Given the description of an element on the screen output the (x, y) to click on. 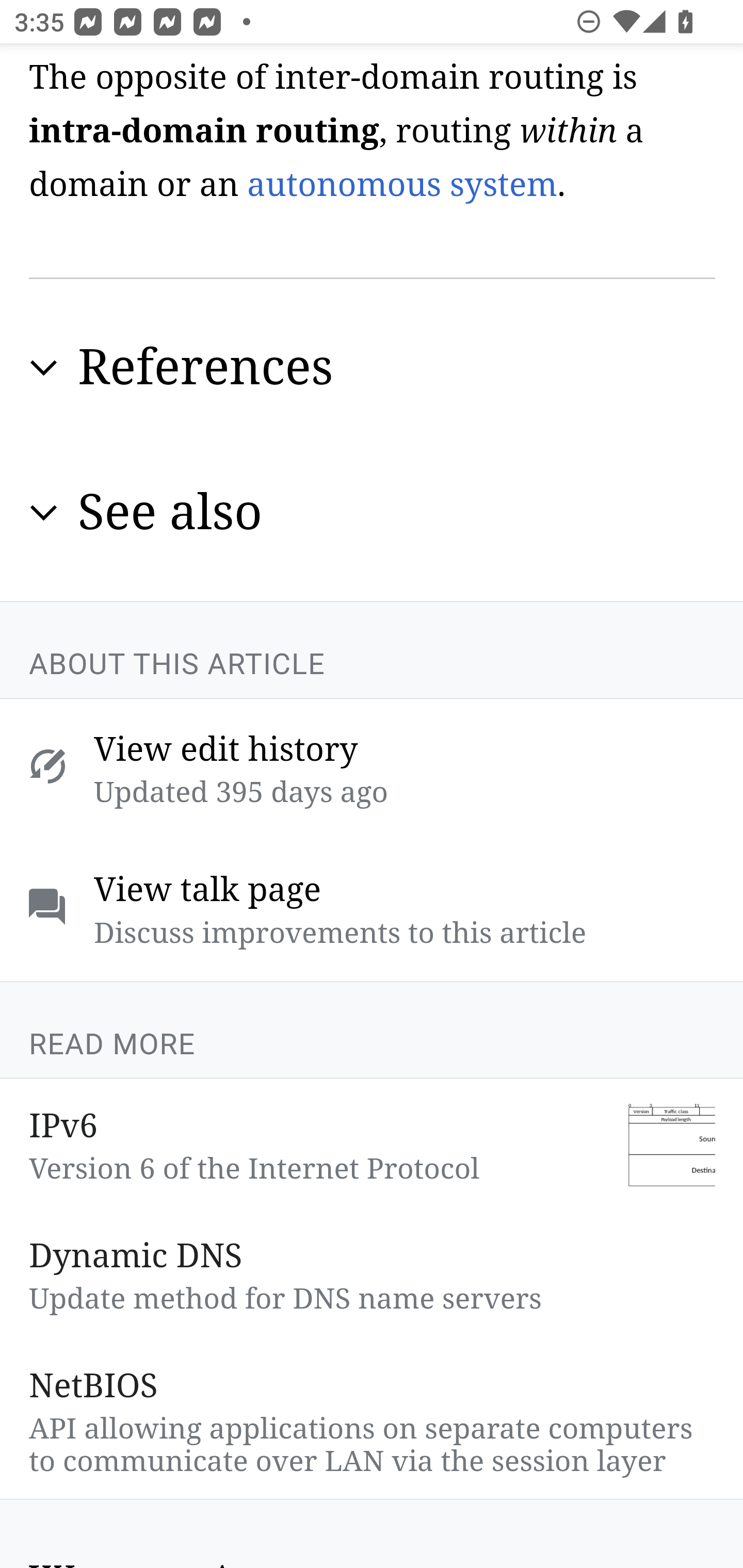
autonomous system (401, 185)
Expand section References (372, 369)
Expand section (43, 369)
Expand section See also (372, 514)
Expand section (43, 513)
